Given the description of an element on the screen output the (x, y) to click on. 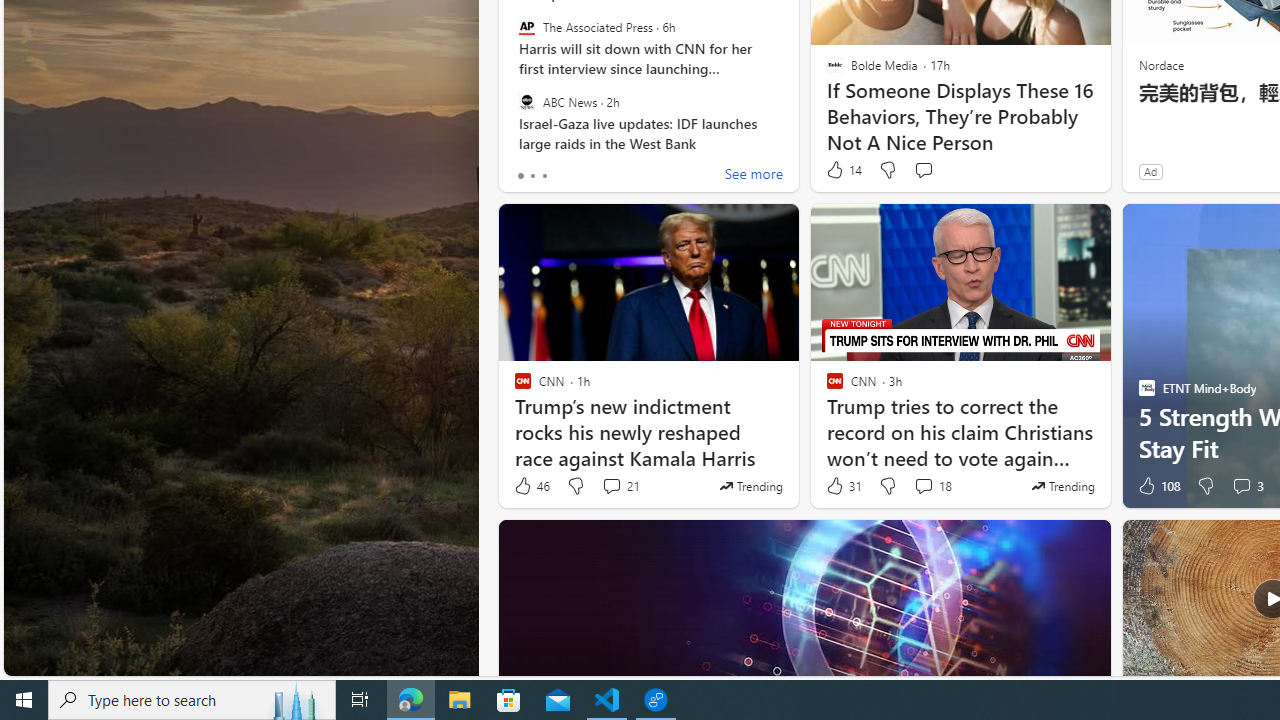
View comments 3 Comment (1247, 485)
ABC News (526, 101)
tab-1 (532, 175)
108 Like (1157, 485)
View comments 18 Comment (923, 485)
31 Like (843, 485)
View comments 18 Comment (932, 485)
46 Like (531, 485)
View comments 21 Comment (619, 485)
tab-2 (543, 175)
